Given the description of an element on the screen output the (x, y) to click on. 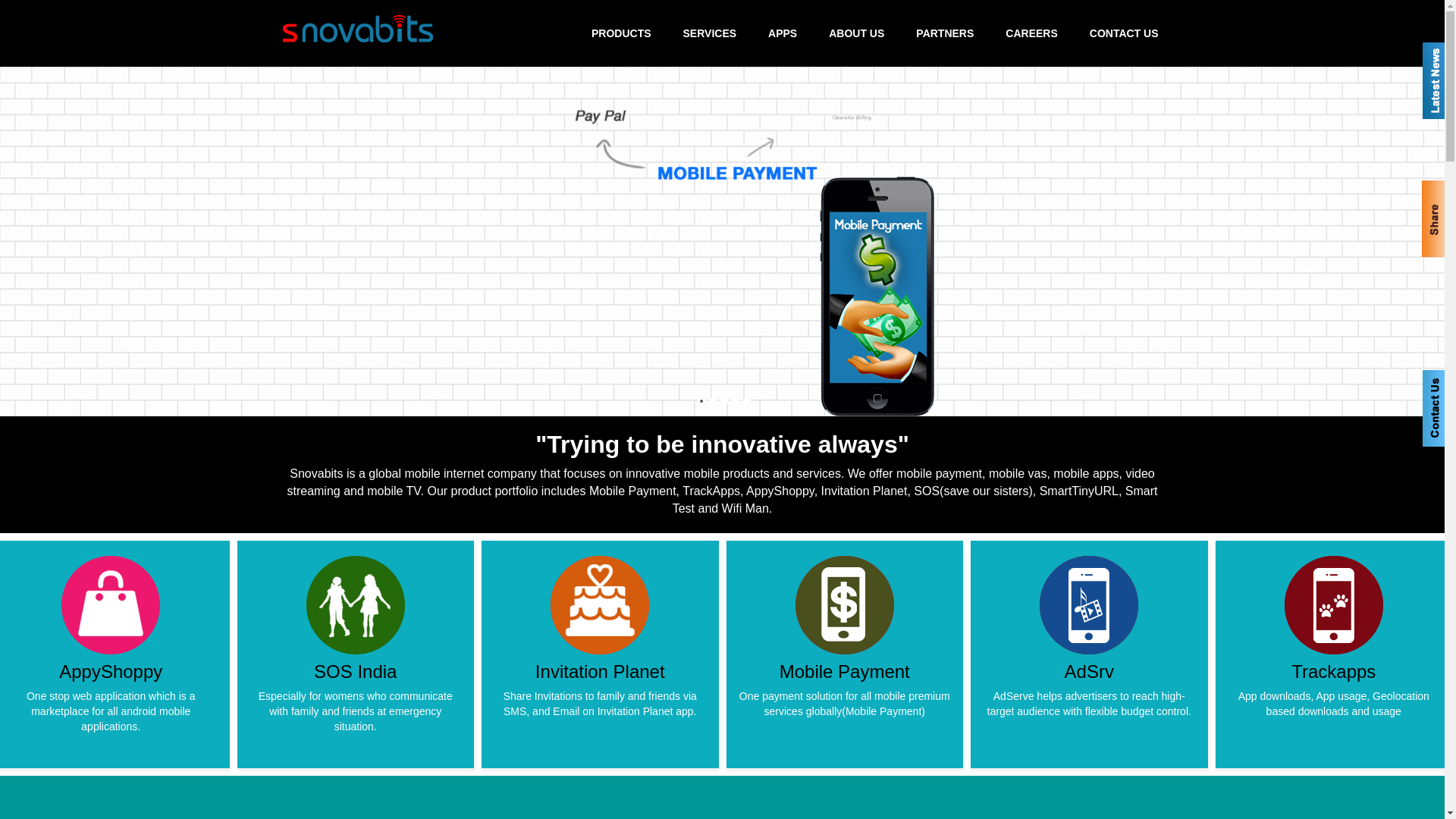
CAREERS (1030, 33)
APPS (782, 33)
CONTACT US (1123, 33)
PRODUCTS (621, 33)
ABOUT US (856, 33)
